Given the description of an element on the screen output the (x, y) to click on. 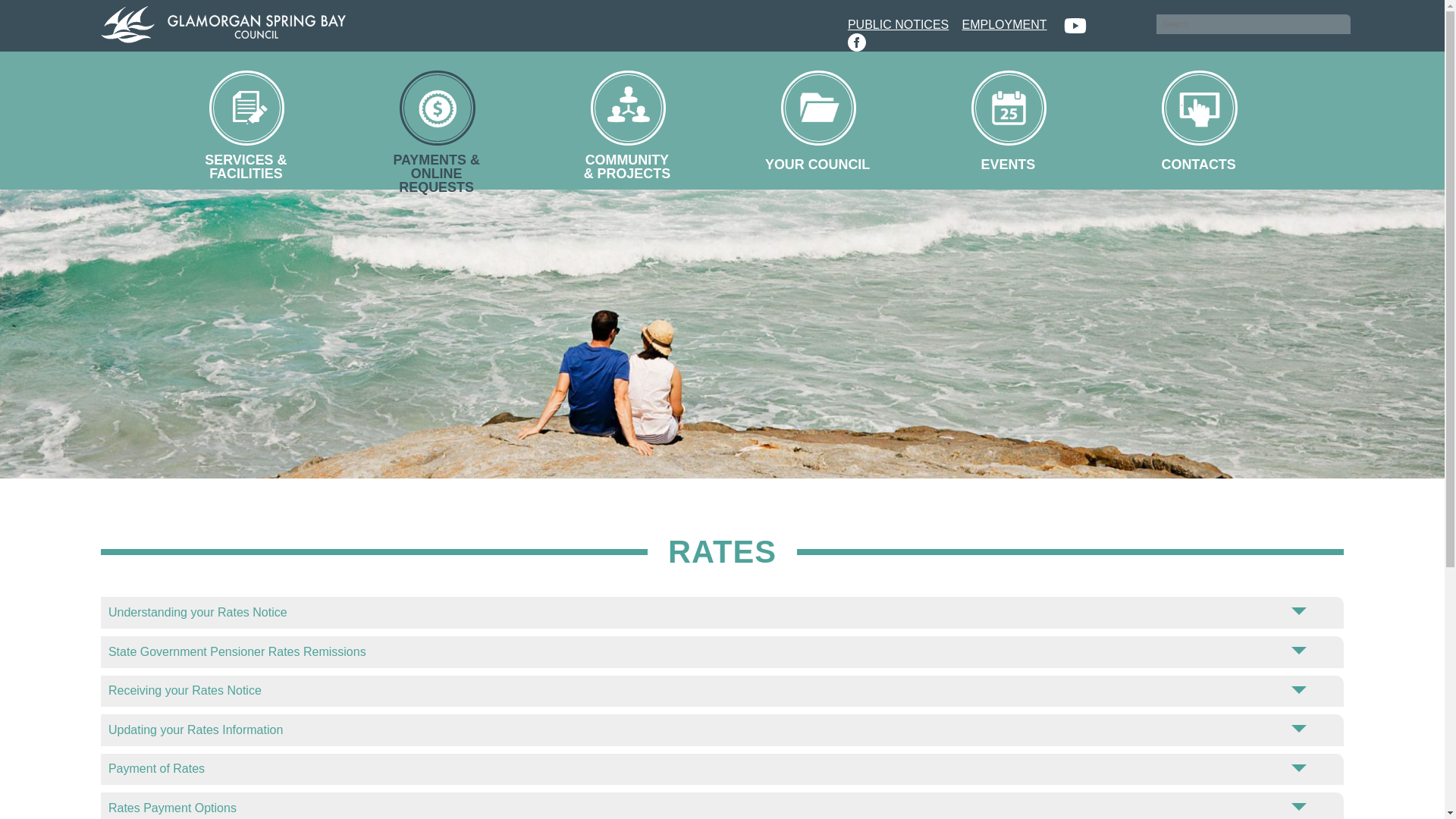
Search for: (1253, 24)
EMPLOYMENT (1004, 22)
PUBLIC NOTICES (898, 22)
